Given the description of an element on the screen output the (x, y) to click on. 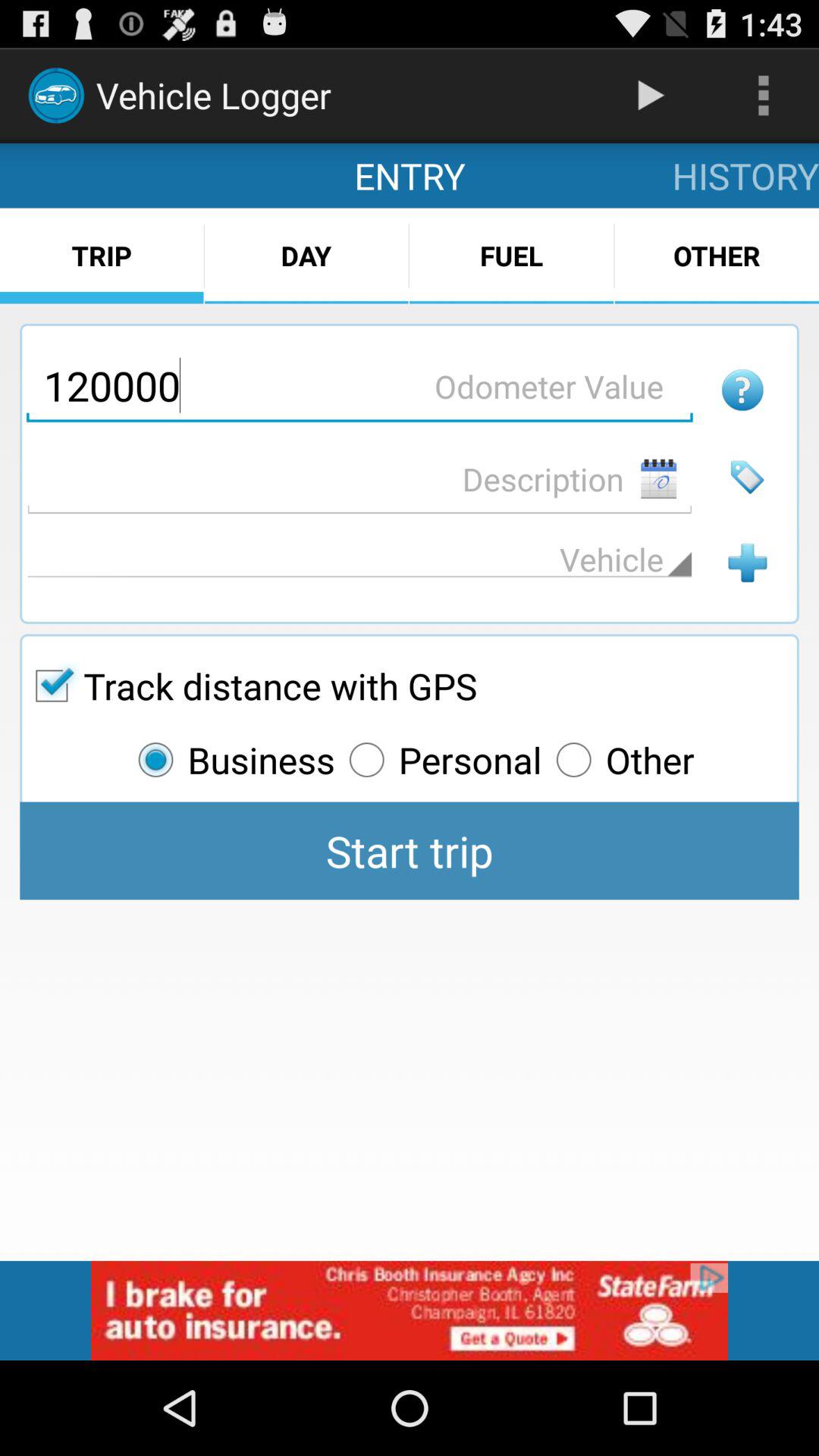
go to brake ofr auto insurance (409, 1310)
